Given the description of an element on the screen output the (x, y) to click on. 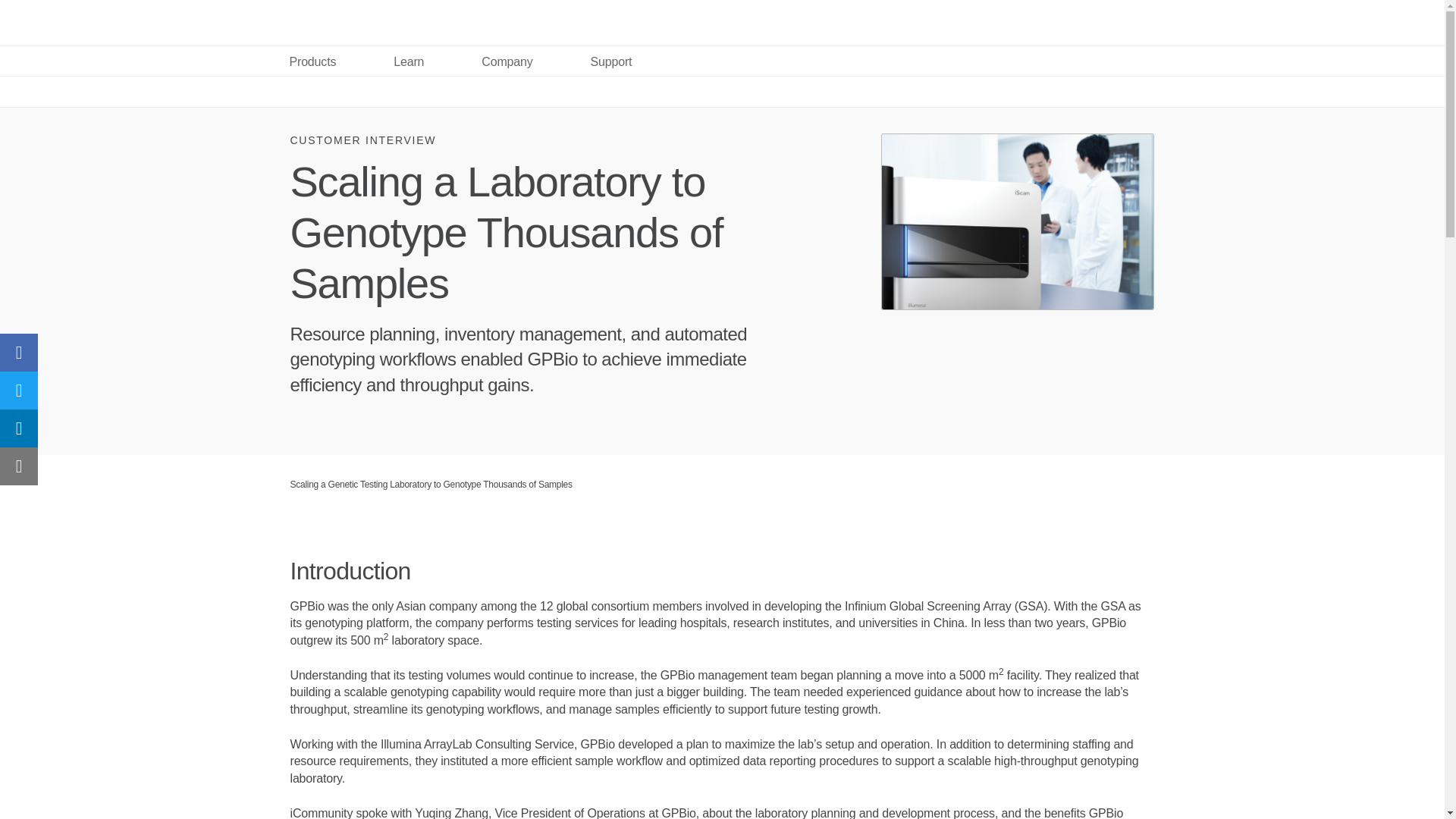
Products (311, 61)
Support (611, 61)
Company (506, 61)
Learn (408, 61)
